Given the description of an element on the screen output the (x, y) to click on. 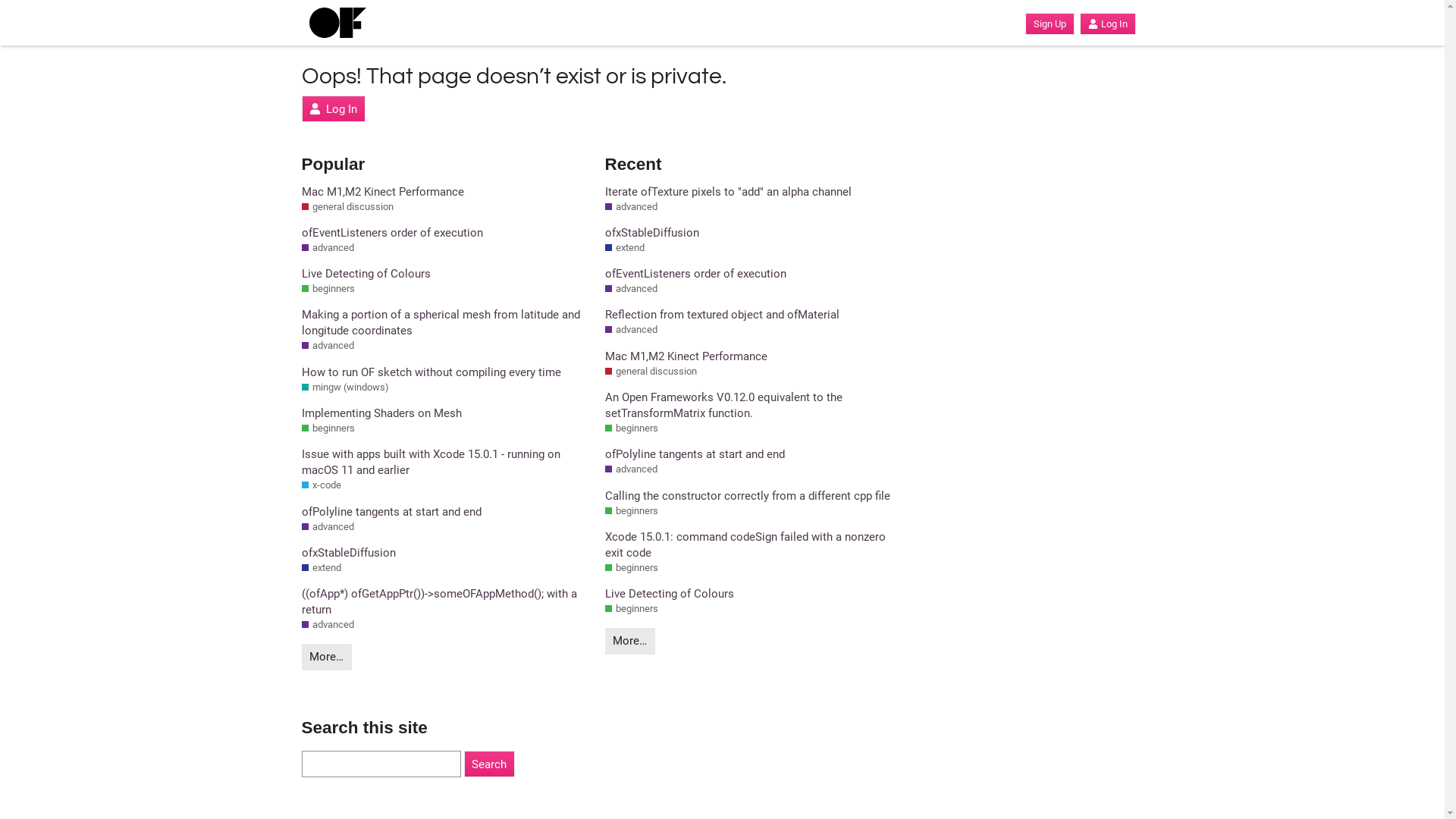
Reflection from textured object and ofMaterial Element type: text (749, 315)
beginners Element type: text (631, 608)
general discussion Element type: text (650, 371)
beginners Element type: text (631, 567)
ofxStableDiffusion Element type: text (749, 233)
Log In Element type: text (1107, 23)
Mac M1,M2 Kinect Performance Element type: text (749, 356)
Calling the constructor correctly from a different cpp file Element type: text (749, 496)
advanced Element type: text (631, 329)
beginners Element type: text (631, 428)
beginners Element type: text (327, 288)
advanced Element type: text (631, 206)
x-code Element type: text (321, 485)
extend Element type: text (321, 567)
advanced Element type: text (327, 345)
Mac M1,M2 Kinect Performance Element type: text (445, 192)
extend Element type: text (624, 247)
advanced Element type: text (327, 624)
ofPolyline tangents at start and end Element type: text (445, 512)
advanced Element type: text (327, 247)
ofEventListeners order of execution Element type: text (445, 233)
Search Element type: text (489, 763)
ofPolyline tangents at start and end Element type: text (749, 454)
general discussion Element type: text (347, 206)
beginners Element type: text (631, 510)
Live Detecting of Colours Element type: text (445, 274)
Implementing Shaders on Mesh Element type: text (445, 413)
advanced Element type: text (631, 469)
Live Detecting of Colours Element type: text (749, 594)
Sign Up Element type: text (1049, 23)
Log In Element type: text (333, 108)
mingw (windows) Element type: text (345, 387)
ofxStableDiffusion Element type: text (445, 553)
advanced Element type: text (631, 288)
beginners Element type: text (327, 428)
ofEventListeners order of execution Element type: text (749, 274)
advanced Element type: text (327, 526)
How to run OF sketch without compiling every time Element type: text (445, 372)
Iterate ofTexture pixels to "add" an alpha channel Element type: text (749, 192)
((ofApp*) ofGetAppPtr())->someOFAppMethod(); with a return Element type: text (445, 602)
